Given the description of an element on the screen output the (x, y) to click on. 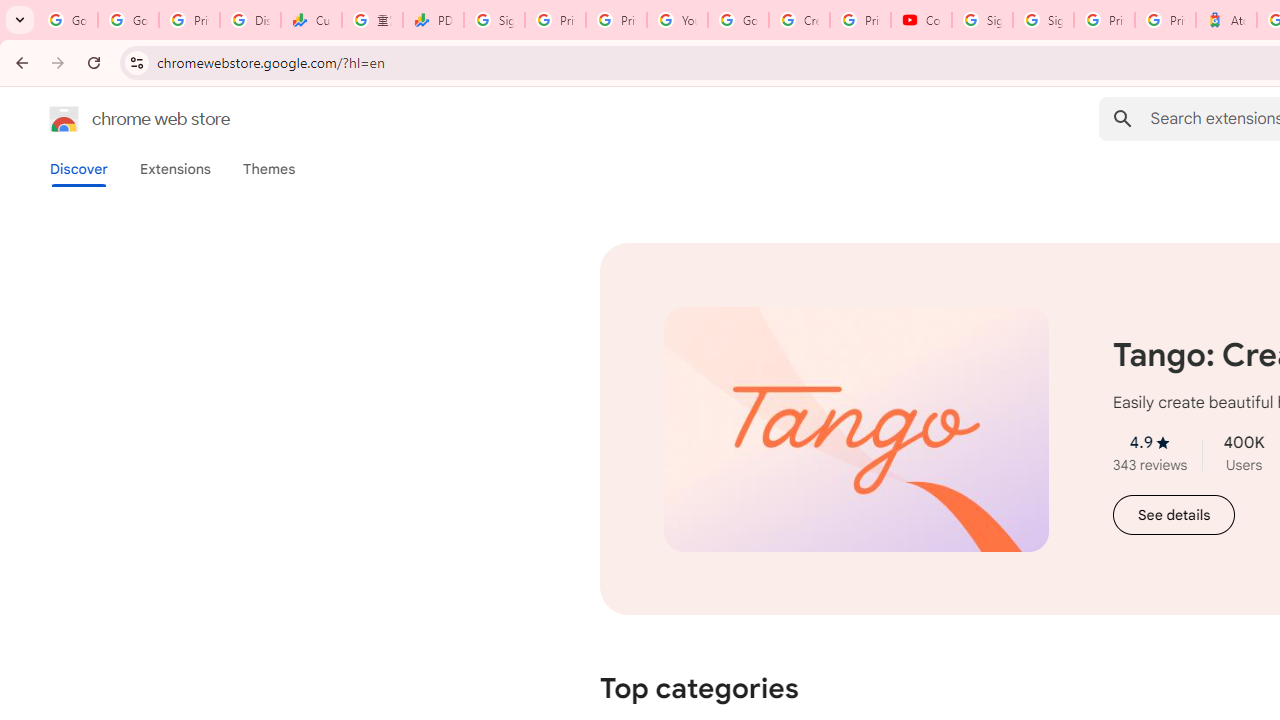
Chrome Web Store logo (63, 118)
Privacy Checkup (616, 20)
Google Account Help (738, 20)
Atour Hotel - Google hotels (1225, 20)
Themes (269, 169)
Chrome Web Store logo chrome web store (118, 118)
YouTube (676, 20)
PDD Holdings Inc - ADR (PDD) Price & News - Google Finance (433, 20)
